Given the description of an element on the screen output the (x, y) to click on. 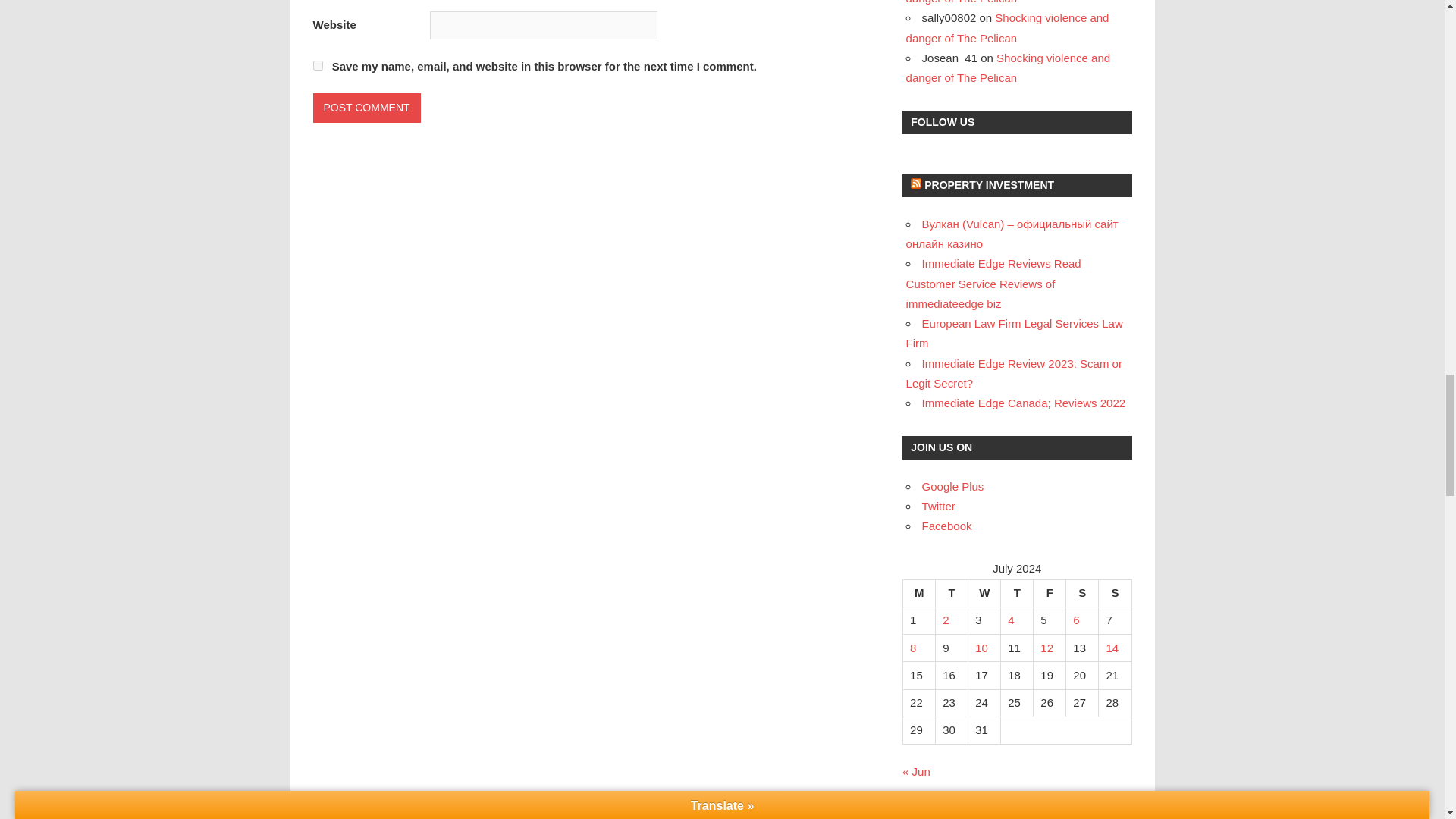
Post Comment (366, 107)
Tuesday (952, 592)
Sunday (1115, 592)
Wednesday (984, 592)
Friday (1049, 592)
Monday (919, 592)
Thursday (1017, 592)
yes (317, 65)
Saturday (1082, 592)
